Given the description of an element on the screen output the (x, y) to click on. 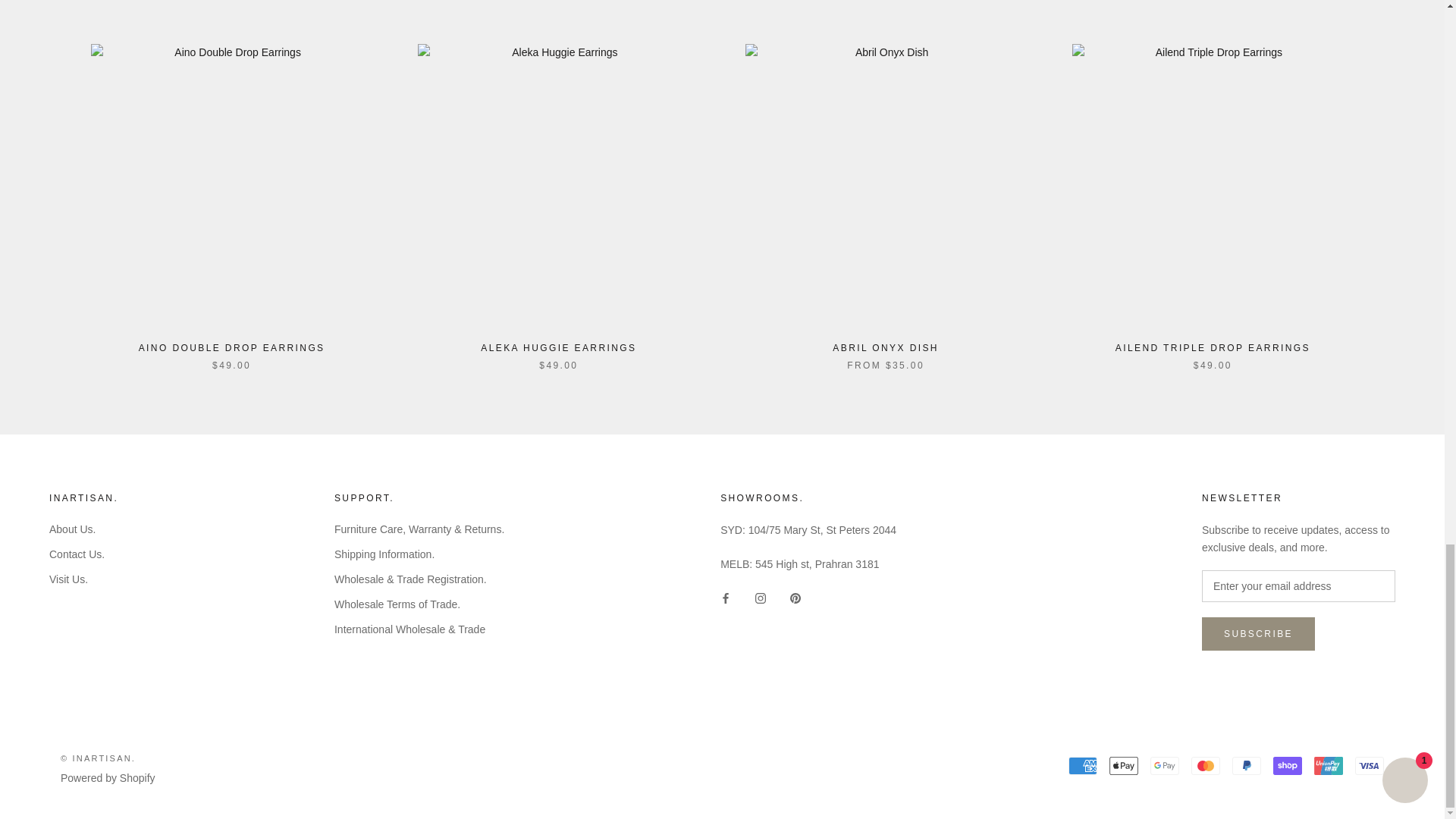
Shop Pay (1286, 765)
Google Pay (1164, 765)
PayPal (1245, 765)
American Express (1082, 765)
Union Pay (1328, 765)
Mastercard (1205, 765)
Visa (1369, 765)
Apple Pay (1123, 765)
